Given the description of an element on the screen output the (x, y) to click on. 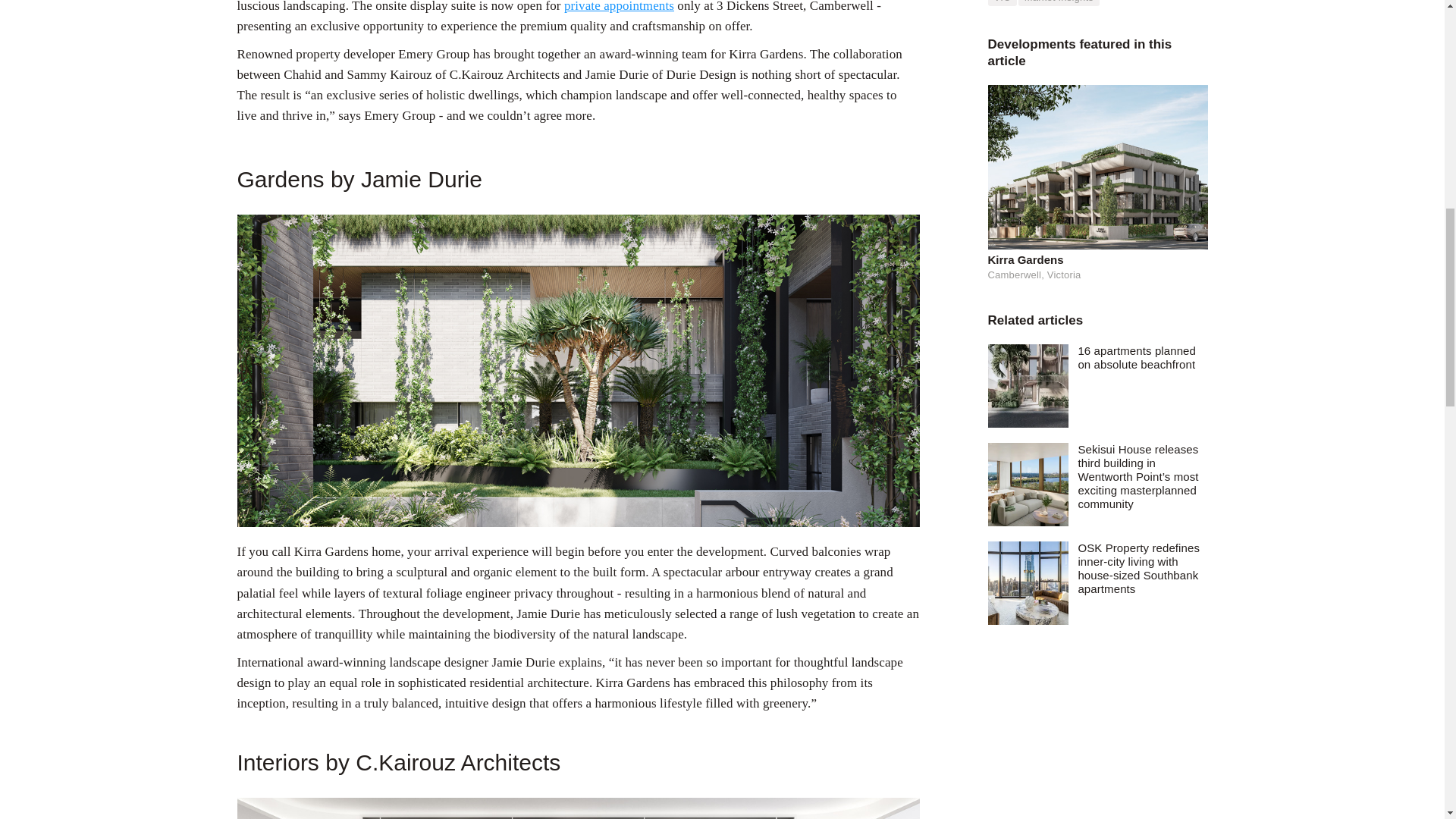
Kirra Gardens (1097, 259)
Market Insights (1058, 2)
VIC (1001, 2)
private appointments (619, 6)
16 apartments planned on absolute beachfront (1142, 357)
